Given the description of an element on the screen output the (x, y) to click on. 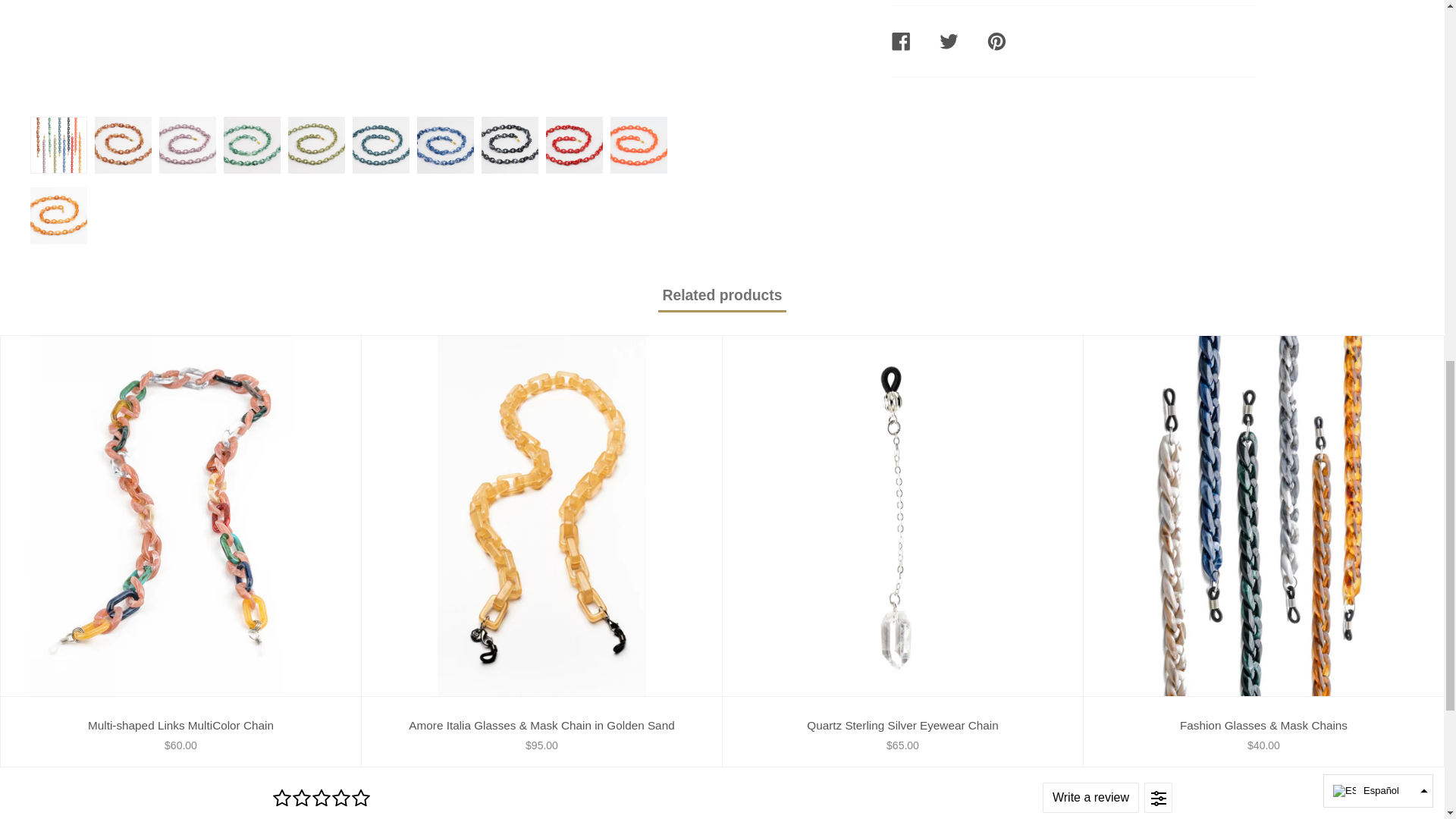
Product reviews widget (721, 793)
